Given the description of an element on the screen output the (x, y) to click on. 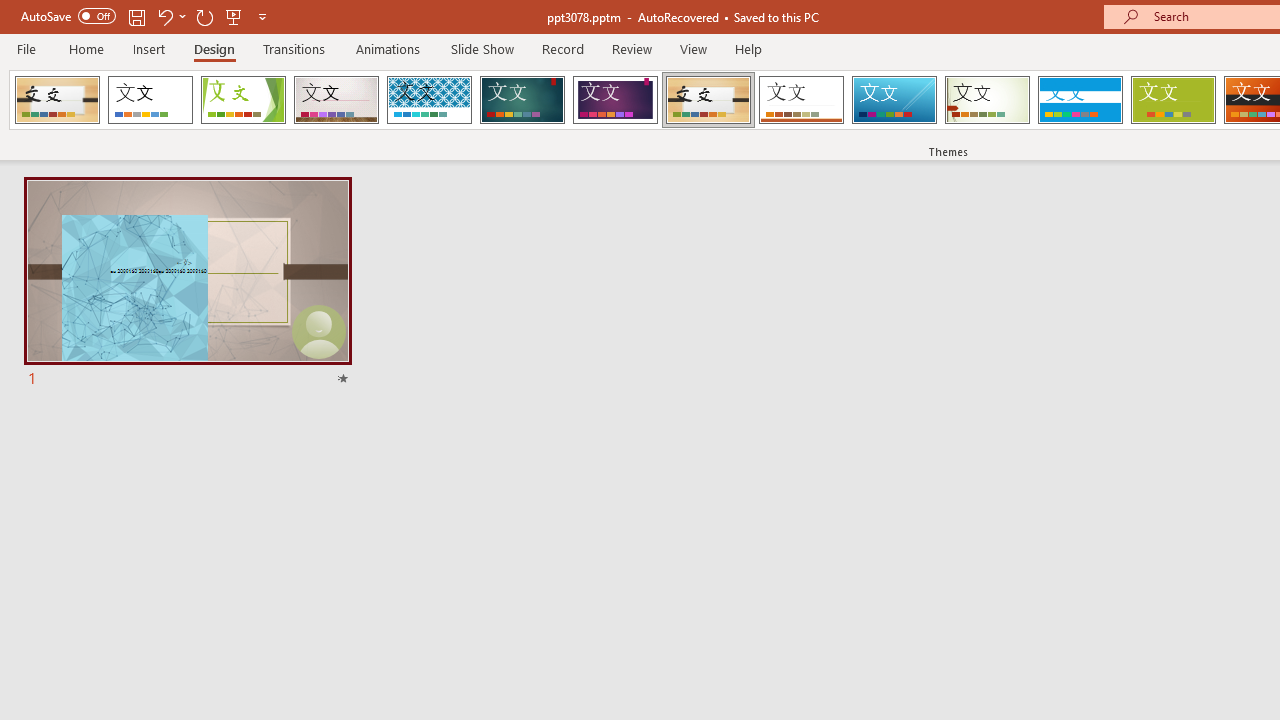
Basis (1172, 100)
Slice (893, 100)
Organic (708, 100)
Retrospect (801, 100)
